Given the description of an element on the screen output the (x, y) to click on. 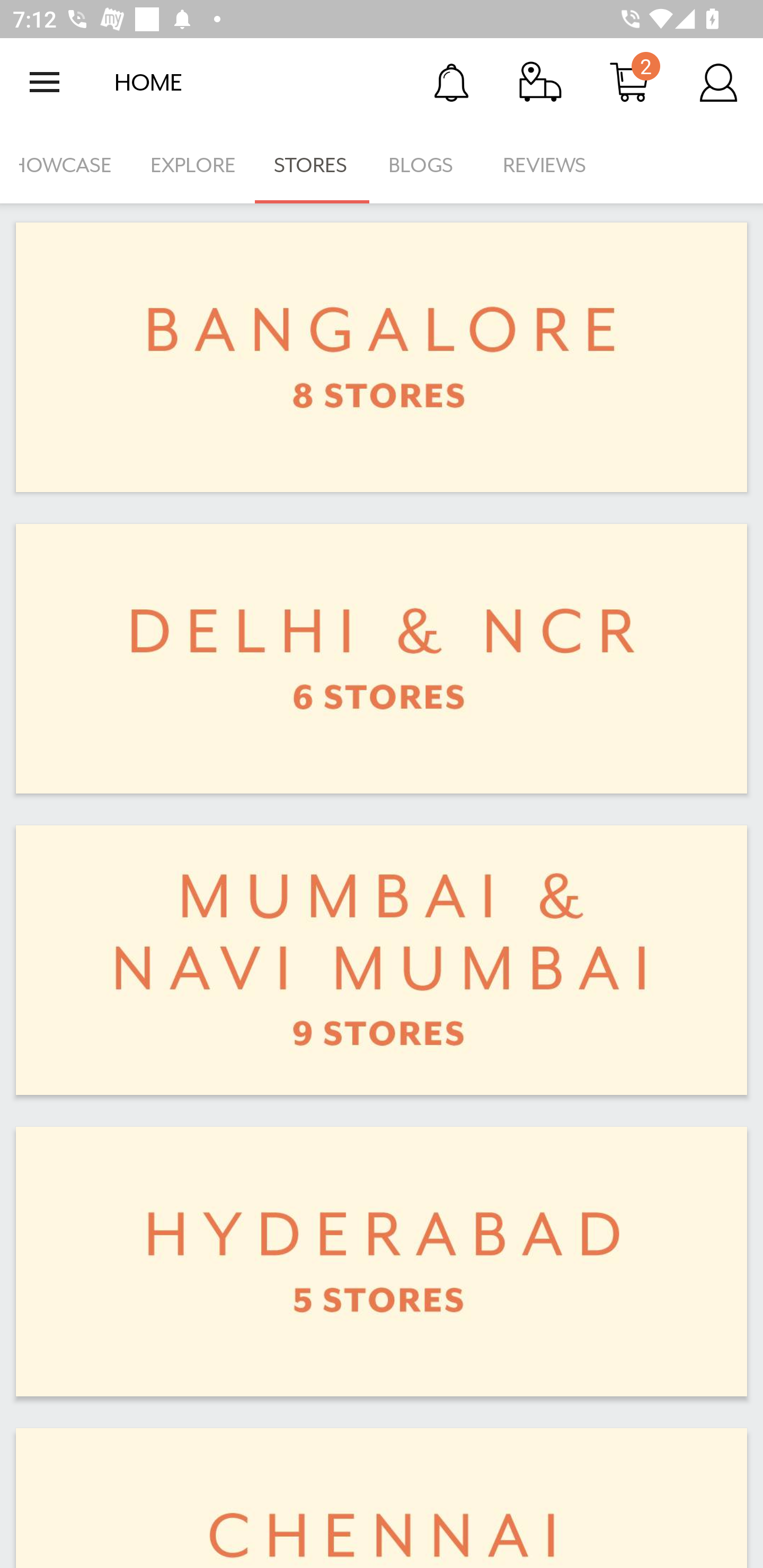
Open navigation drawer (44, 82)
Notification (450, 81)
Track Order (540, 81)
Cart (629, 81)
Account Details (718, 81)
SHOWCASE (65, 165)
EXPLORE (192, 165)
STORES (311, 165)
BLOGS (426, 165)
REVIEWS (544, 165)
